Given the description of an element on the screen output the (x, y) to click on. 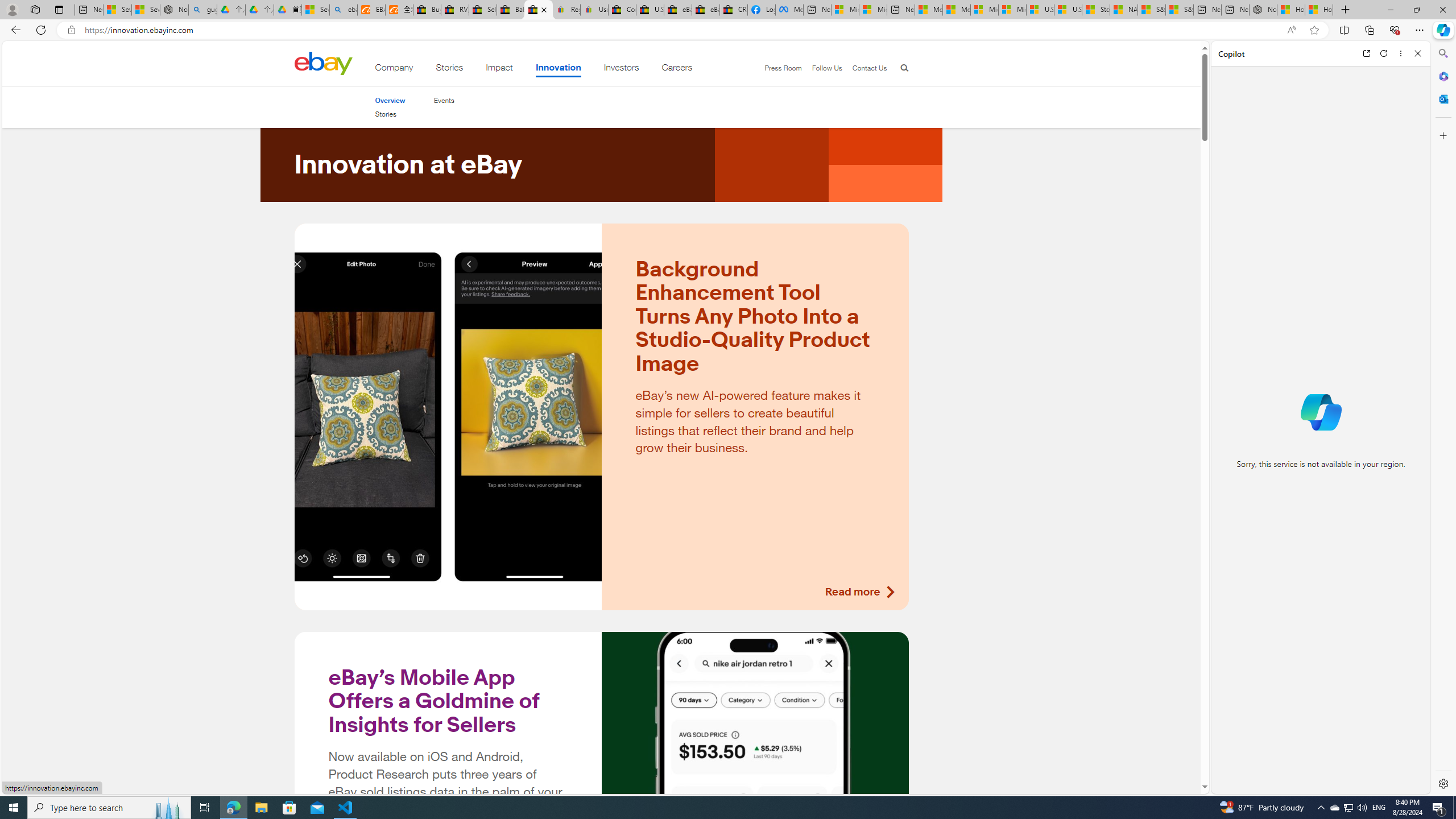
Careers (677, 69)
Consumer Health Data Privacy Policy - eBay Inc. (621, 9)
Contact Us (868, 67)
U.S. State Privacy Disclosures - eBay Inc. (649, 9)
Stories (390, 113)
User Privacy Notice | eBay (593, 9)
Sell worldwide with eBay (483, 9)
Innovation (557, 69)
